Given the description of an element on the screen output the (x, y) to click on. 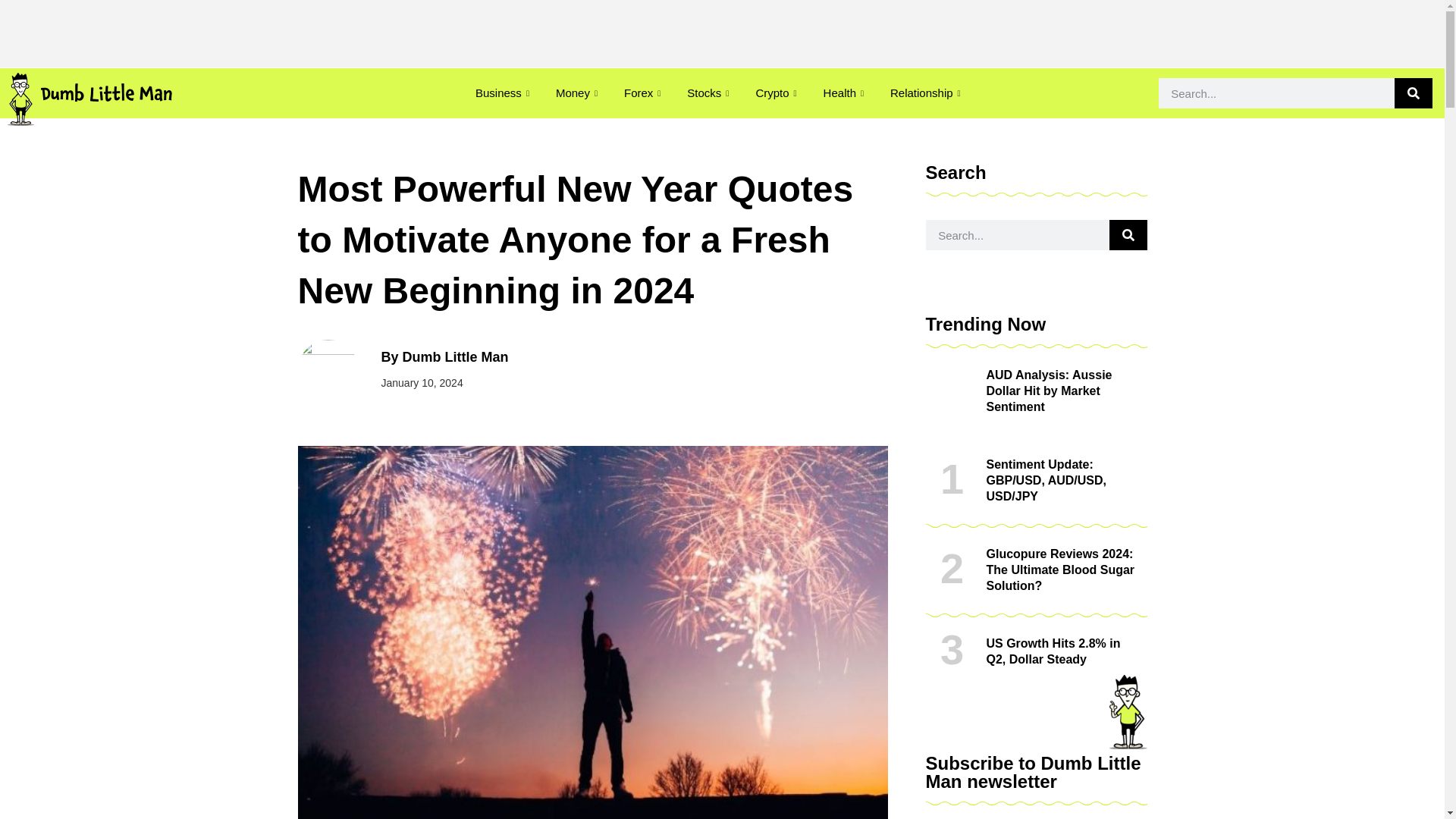
Business (504, 92)
